Given the description of an element on the screen output the (x, y) to click on. 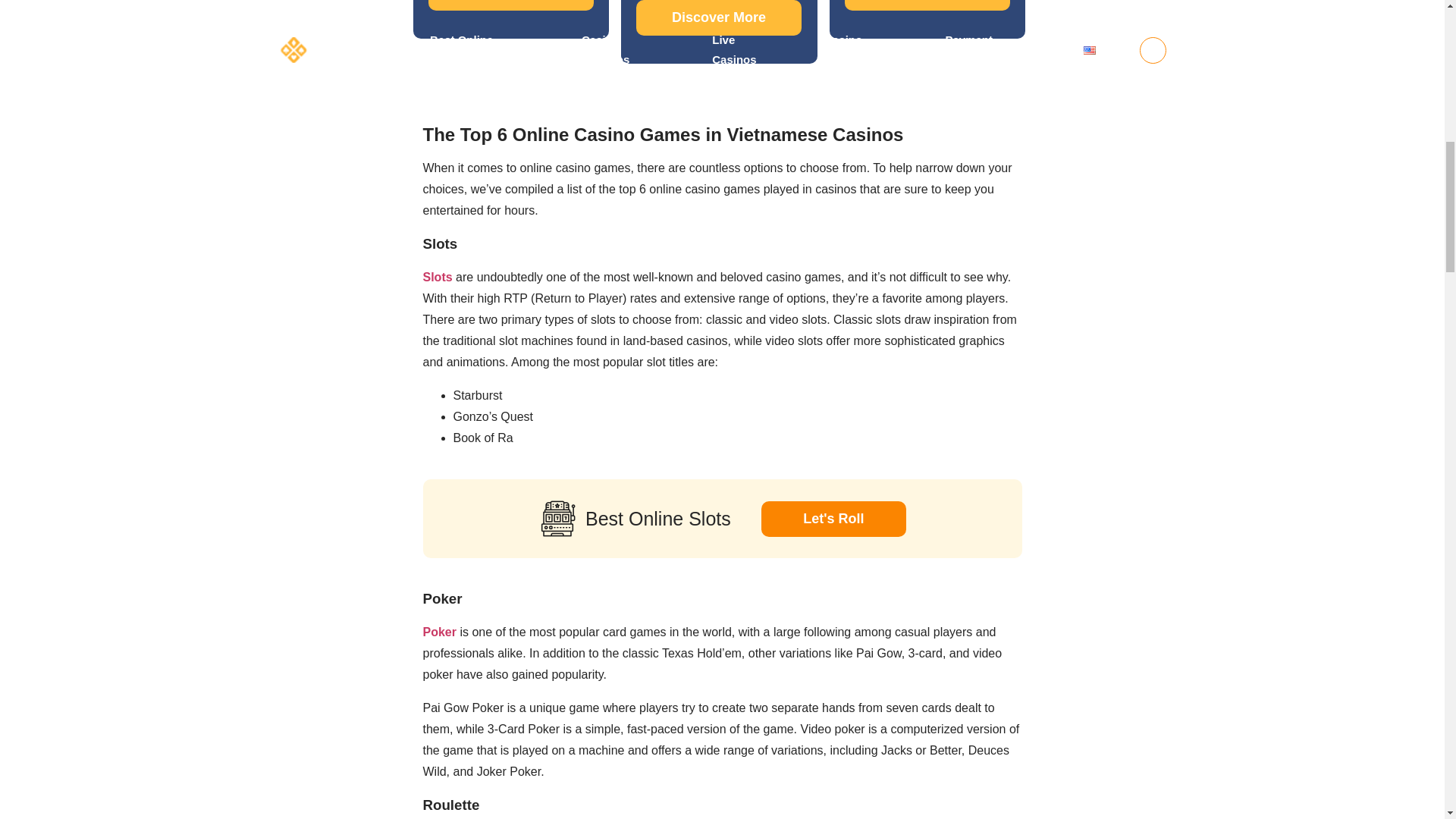
Discover More (511, 5)
Discover More (719, 18)
